Given the description of an element on the screen output the (x, y) to click on. 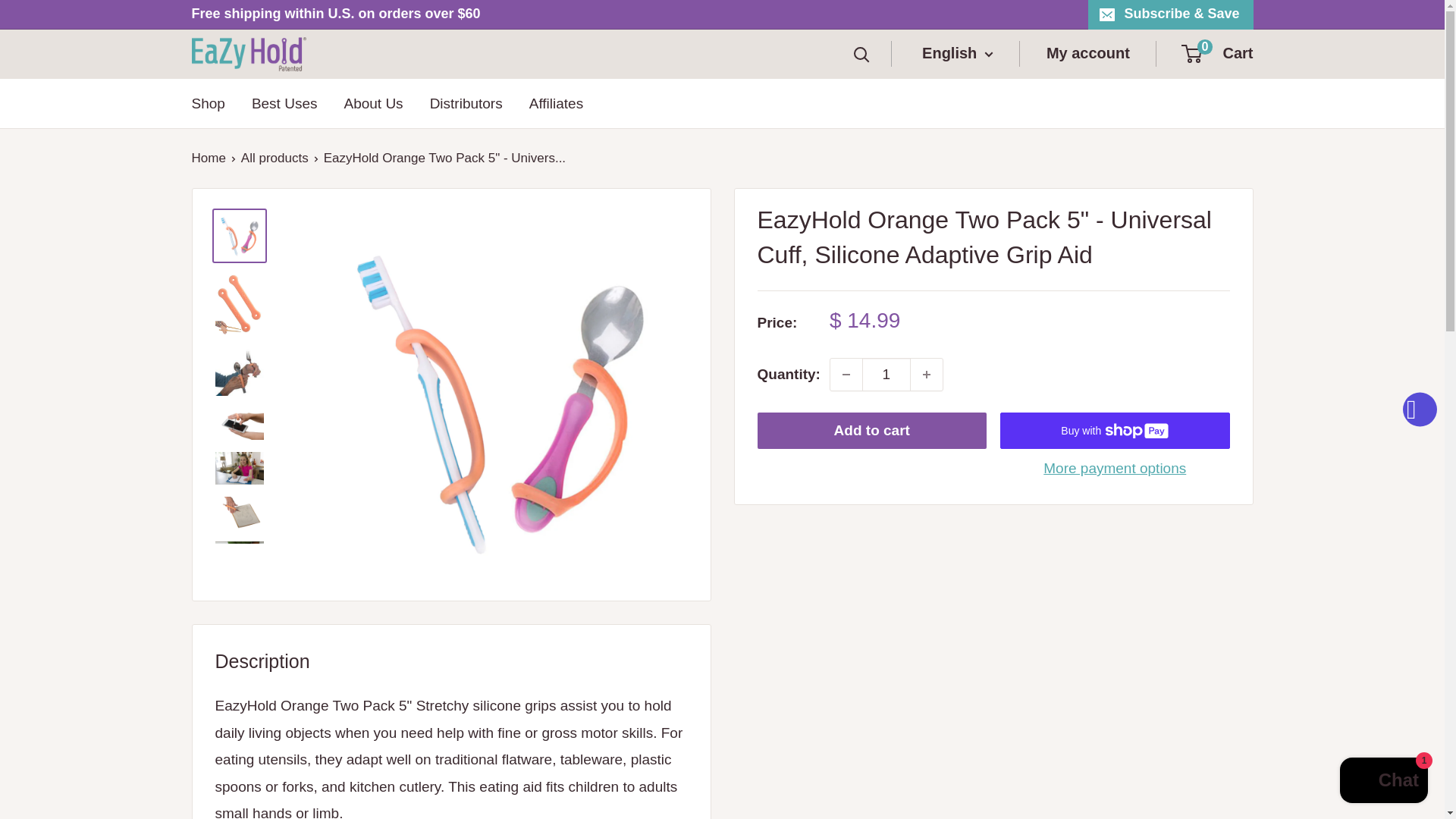
Increase quantity by 1 (926, 374)
Decrease quantity by 1 (845, 374)
Shopify online store chat (1383, 781)
1 (886, 374)
